Given the description of an element on the screen output the (x, y) to click on. 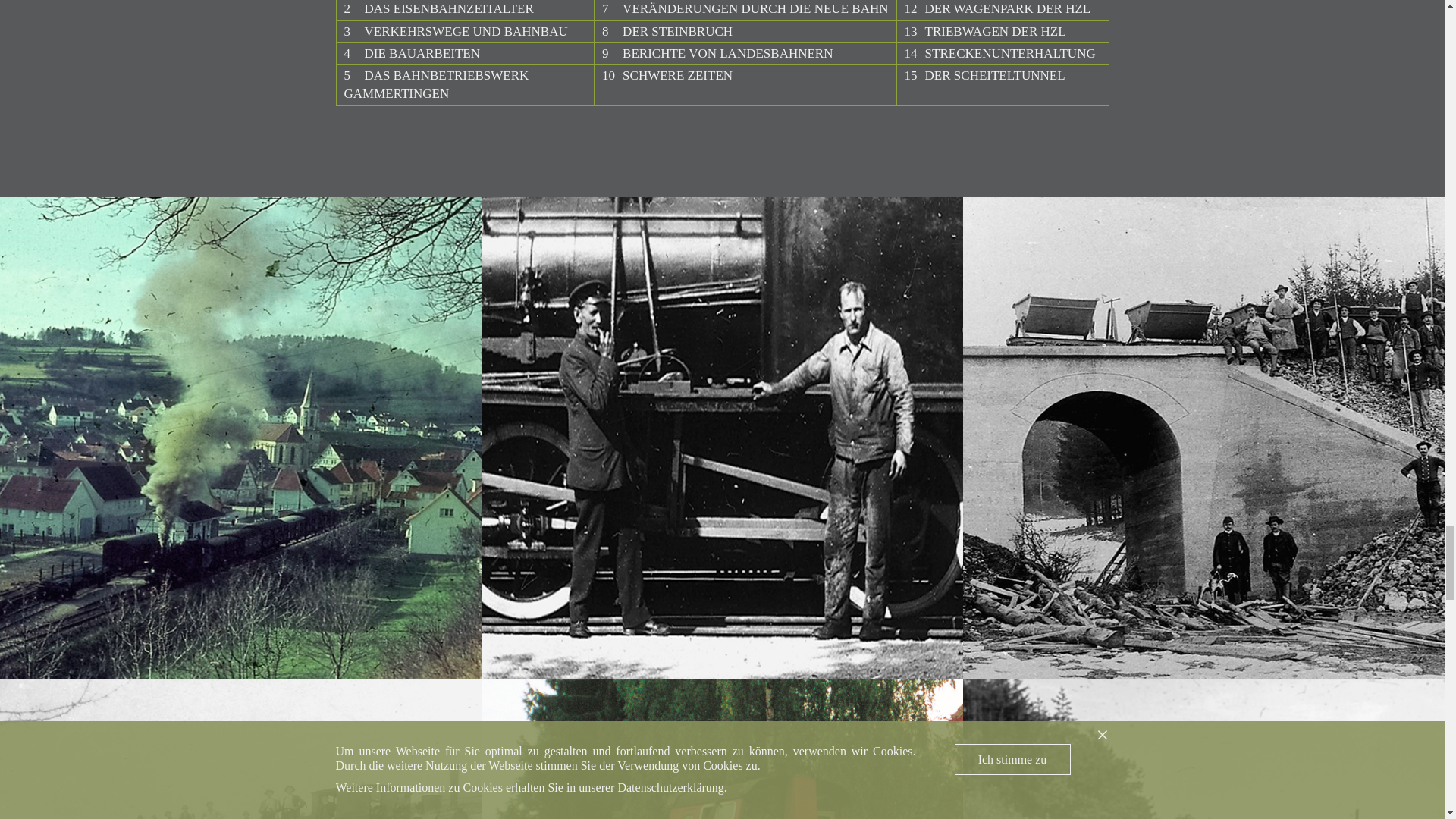
9BERICHTE VON LANDESBAHNERN (717, 52)
12DER WAGENPARK DER HZL (997, 8)
3VERKEHRSWEGE UND BAHNBAU (455, 31)
8DER STEINBRUCH (667, 31)
4DIE BAUARBEITEN (411, 52)
13TRIEBWAGEN DER HZL (984, 31)
5DAS BAHNBETRIEBSWERK GAMMERTINGEN (436, 83)
15DER SCHEITELTUNNEL (984, 74)
2DAS EISENBAHNZEITALTER (438, 8)
10SCHWERE ZEITEN (667, 74)
14STRECKENUNTERHALTUNG (1000, 52)
